Given the description of an element on the screen output the (x, y) to click on. 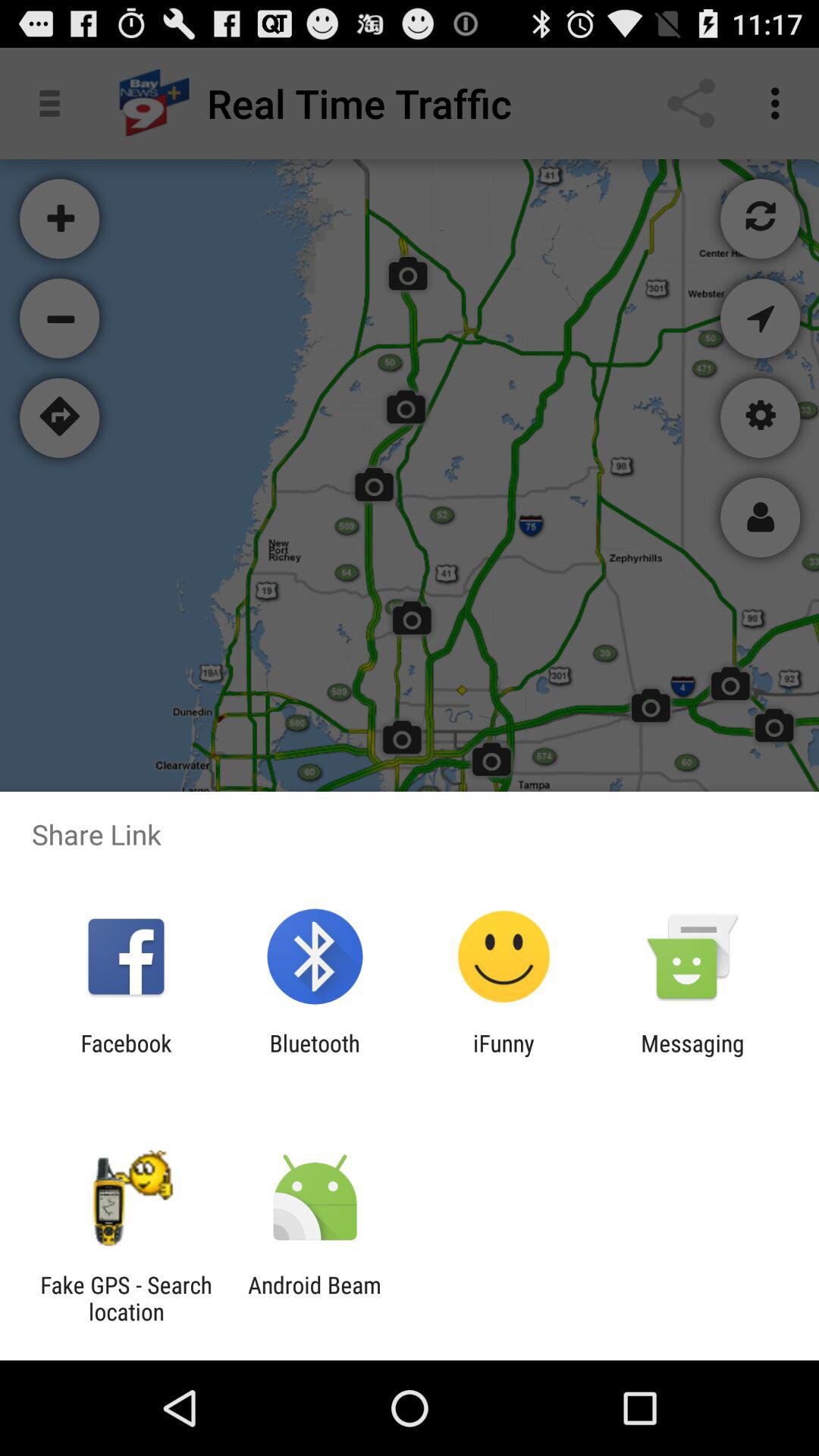
open item to the right of the facebook item (314, 1056)
